Given the description of an element on the screen output the (x, y) to click on. 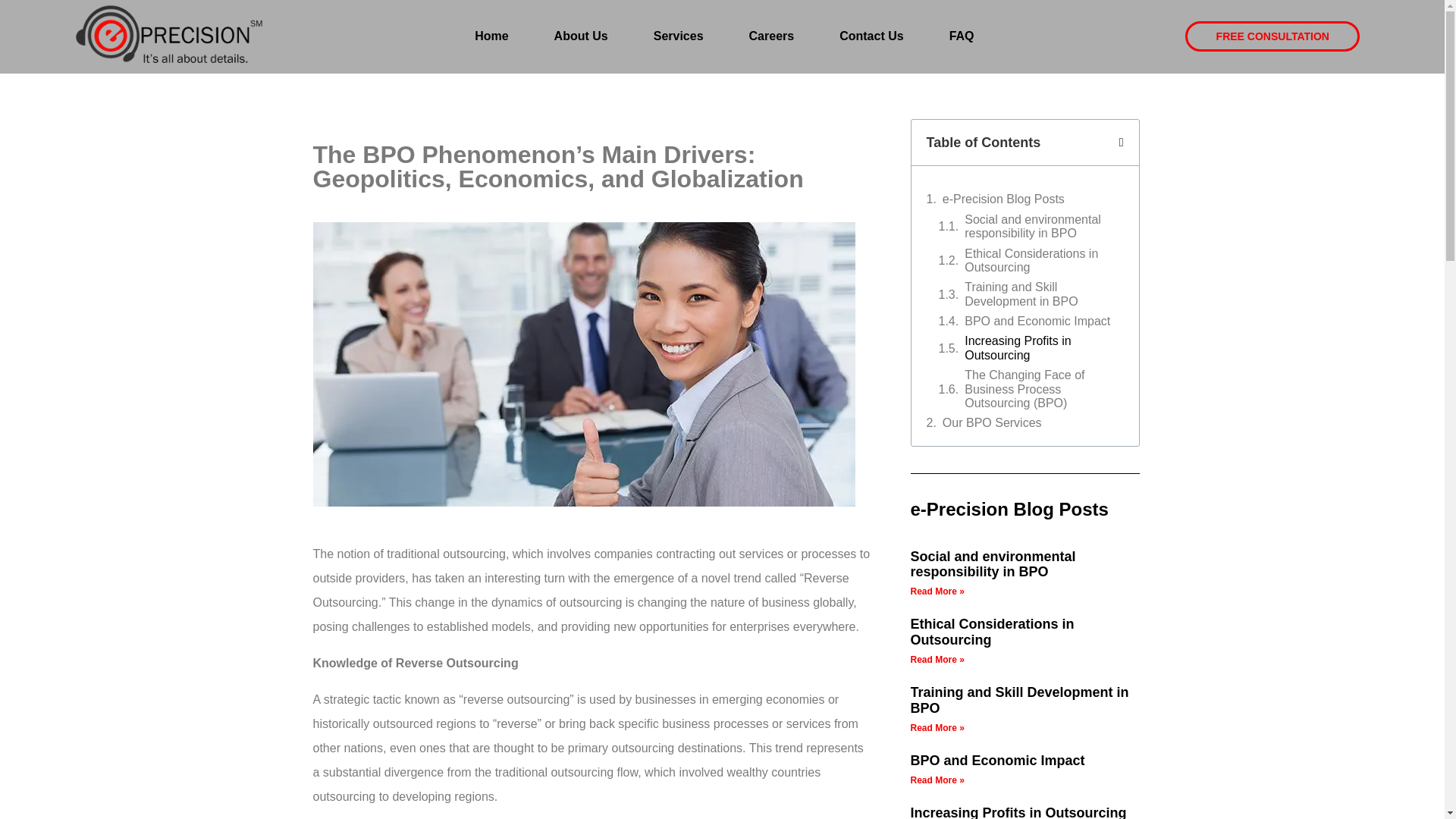
Our BPO Services (992, 422)
BPO and Economic Impact (997, 760)
Careers (771, 36)
Training and Skill Development in BPO (1019, 699)
Services (679, 36)
FAQ (962, 36)
Social and environmental responsibility in BPO (992, 563)
Home (491, 36)
Increasing Profits in Outsourcing (1017, 812)
